Given the description of an element on the screen output the (x, y) to click on. 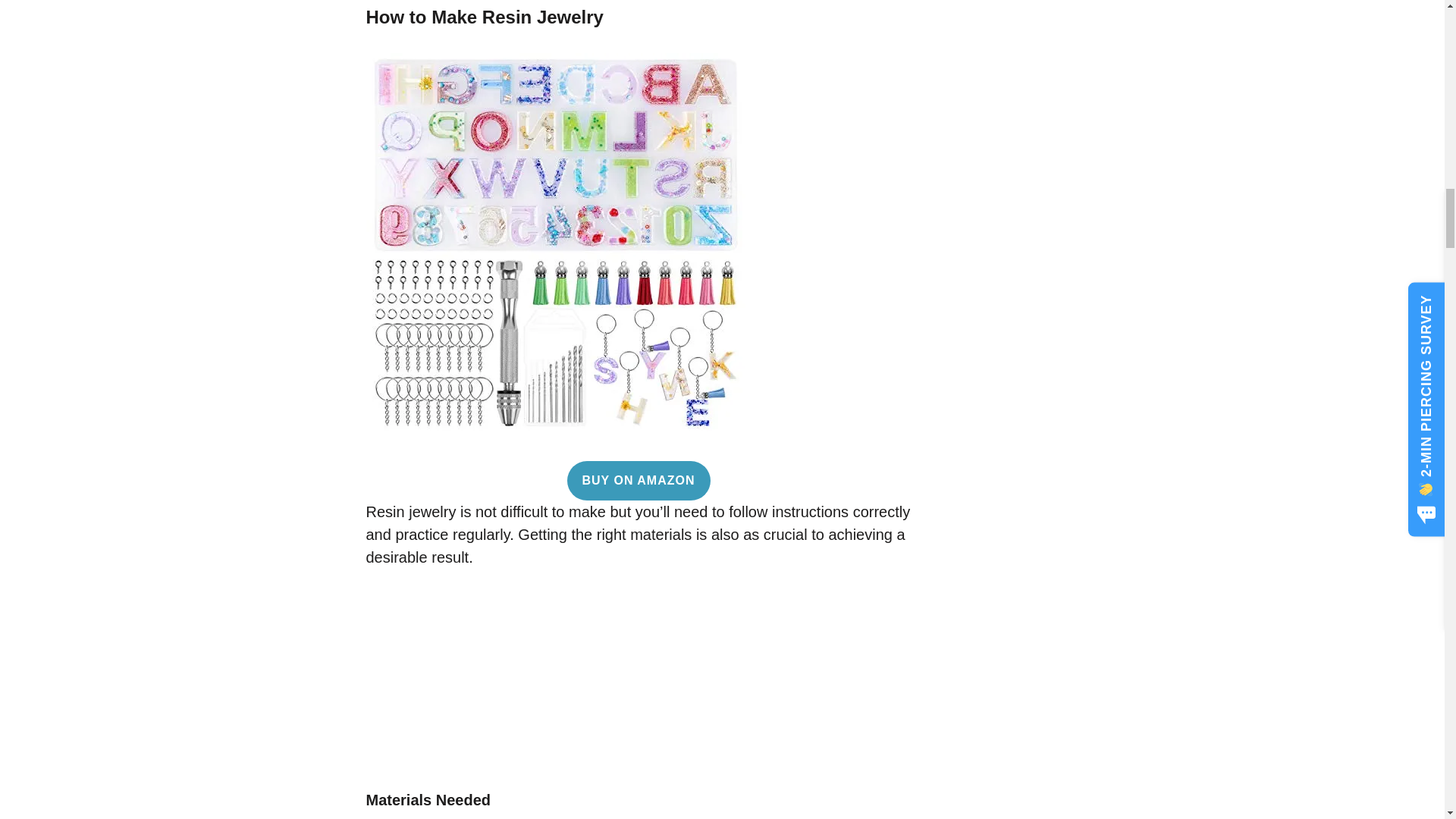
BUY ON AMAZON (638, 480)
